Given the description of an element on the screen output the (x, y) to click on. 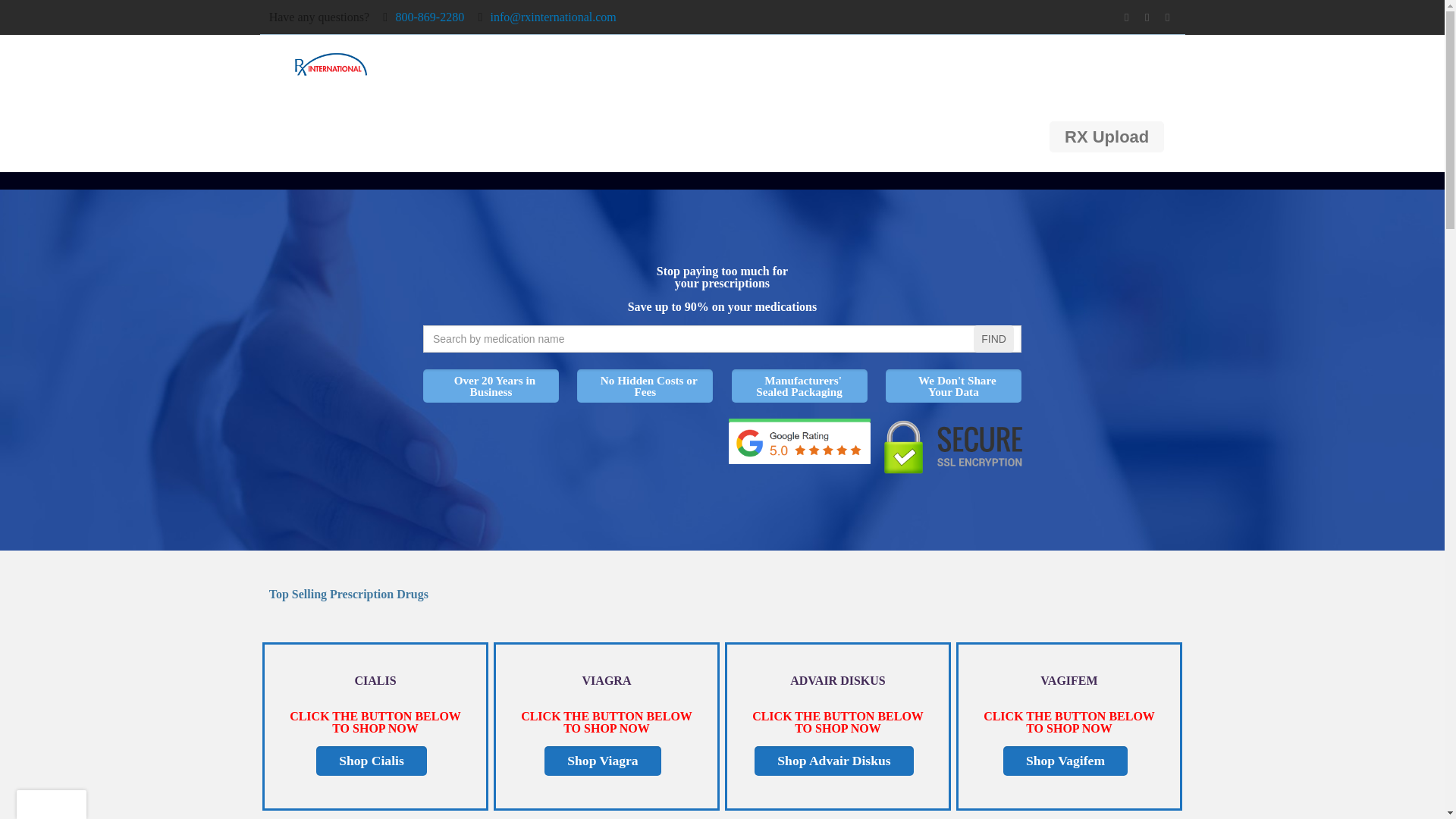
Contact Us (1065, 69)
FIND (993, 338)
TrustedSite Certified (644, 442)
Shop Viagra (602, 761)
TrustedSite Certified (490, 441)
Shop Advair Diskus (833, 761)
No Hidden Costs or Fees (644, 385)
Twitter (1146, 17)
Who We Are (553, 69)
Blog (1157, 69)
FIND (993, 338)
Instagram (1166, 17)
RX Upload (1106, 136)
How to Order (685, 69)
800-869-2280 (429, 16)
